Given the description of an element on the screen output the (x, y) to click on. 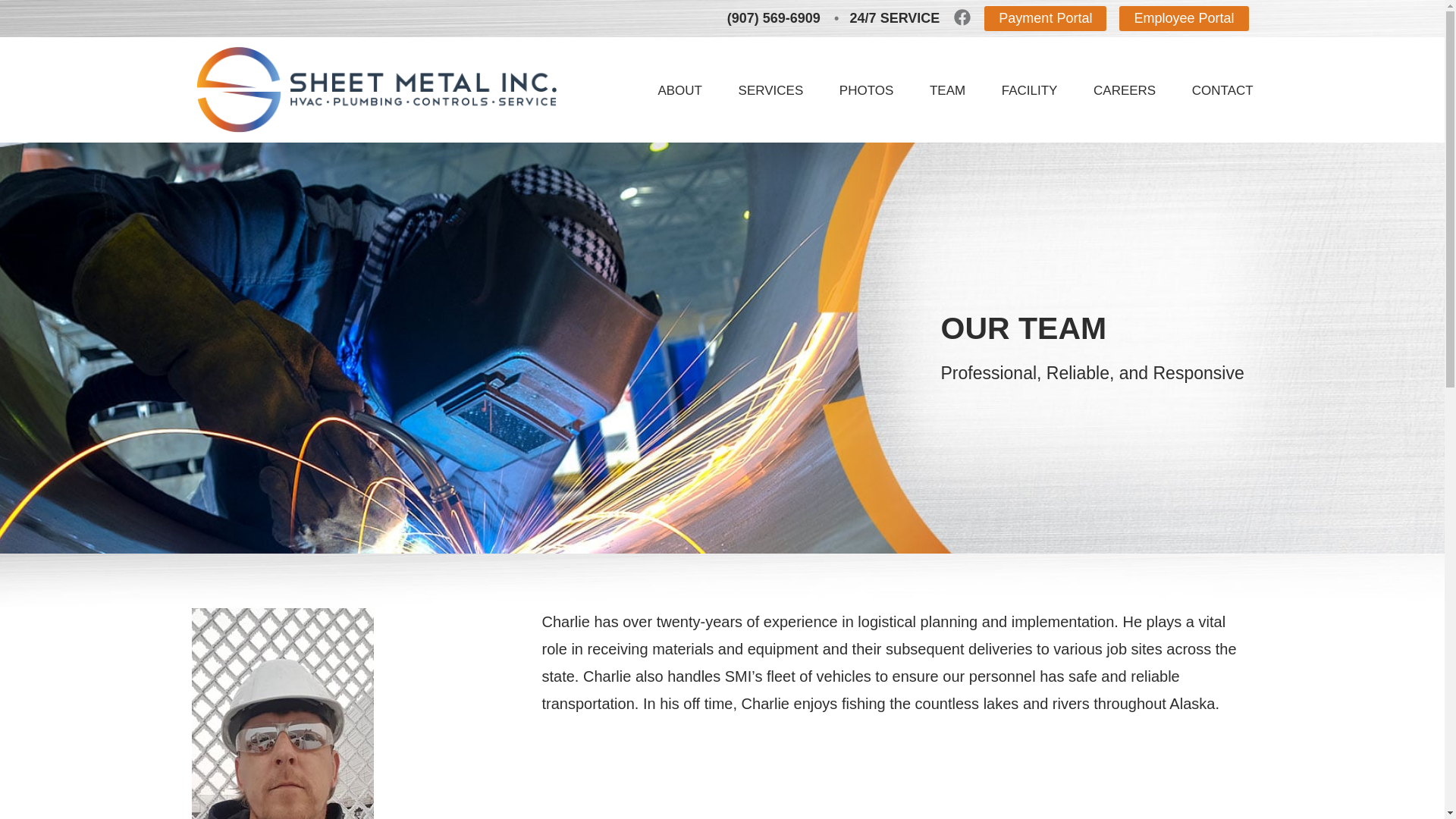
Employee Portal (1183, 17)
ABOUT (679, 89)
PHOTOS (866, 89)
FACEBOOK (962, 17)
CAREERS (1124, 89)
TEAM (947, 89)
Payment Portal (1045, 17)
CONTACT (1222, 89)
SERVICES (770, 89)
FACILITY (1029, 89)
